Given the description of an element on the screen output the (x, y) to click on. 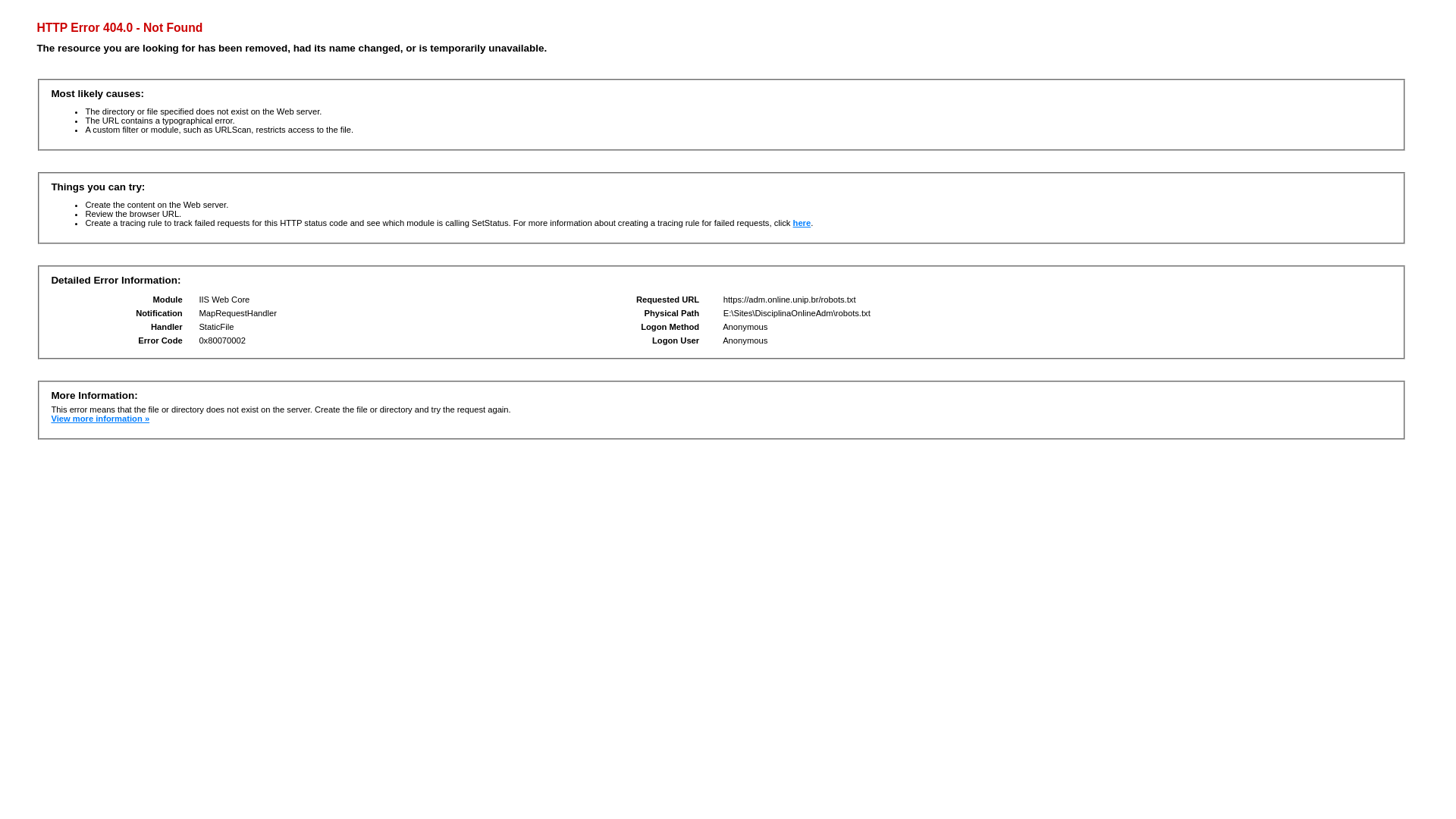
here Element type: text (802, 222)
